Given the description of an element on the screen output the (x, y) to click on. 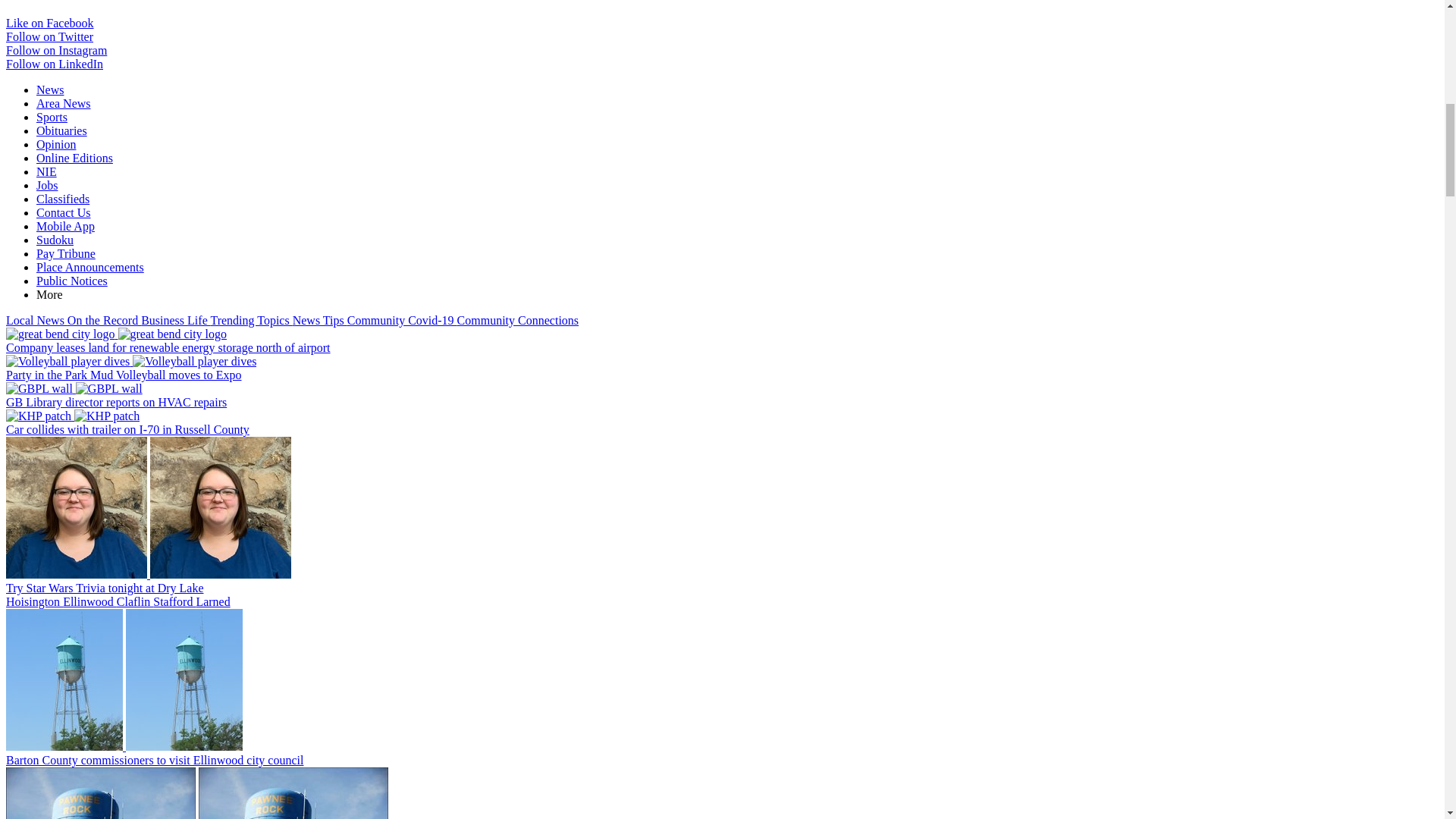
Follow on Twitter (49, 36)
Like on Facebook (49, 22)
